Given the description of an element on the screen output the (x, y) to click on. 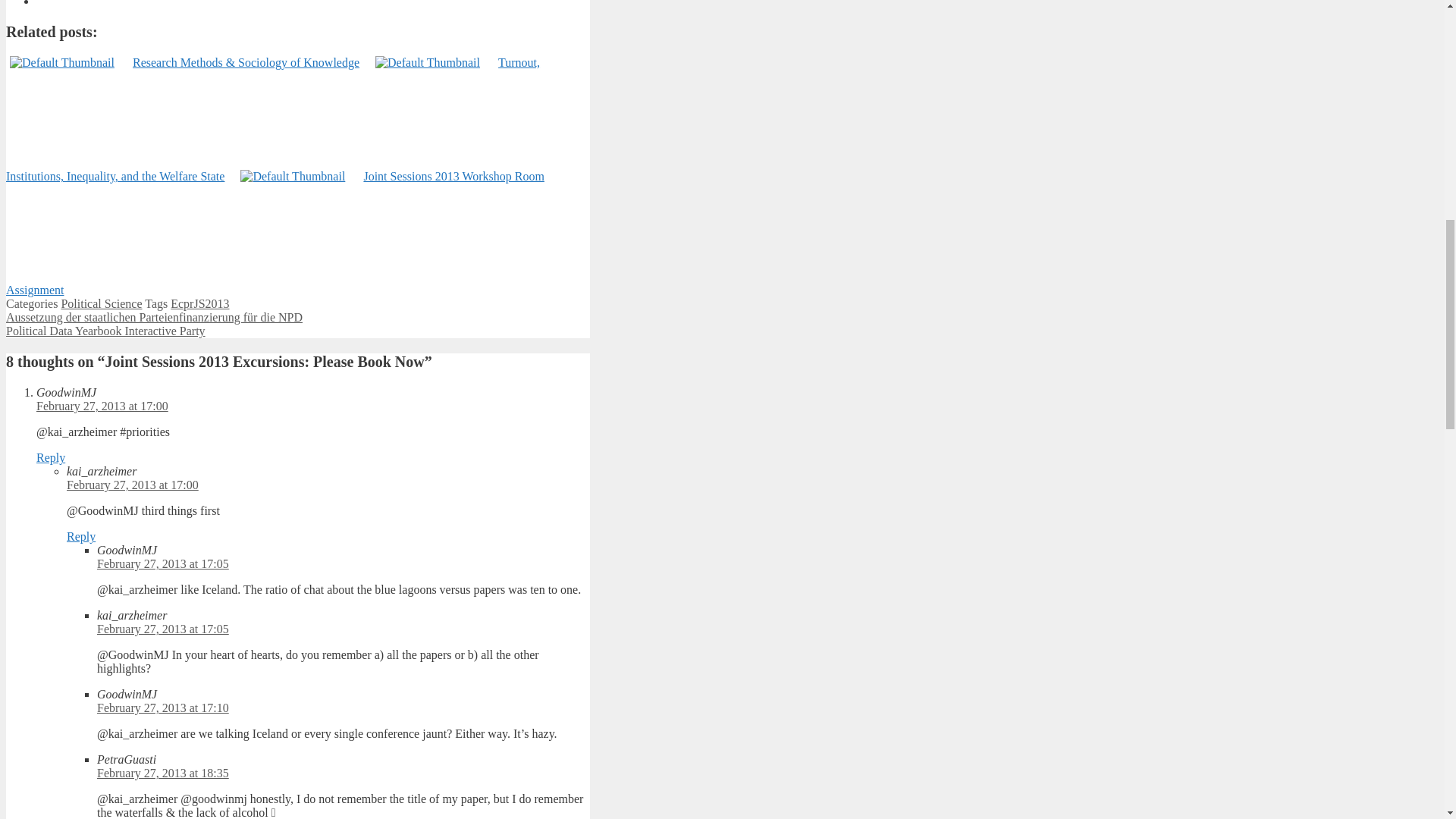
Political Science (101, 303)
Turnout, Institutions, Inequality, and the Welfare State (272, 119)
Turnout, Institutions, Inequality, and the Welfare State (272, 119)
EcprJS2013 (199, 303)
Joint Sessions 2013 Workshop Room Assignment (274, 232)
Joint Sessions 2013 Workshop Room Assignment (274, 232)
